Given the description of an element on the screen output the (x, y) to click on. 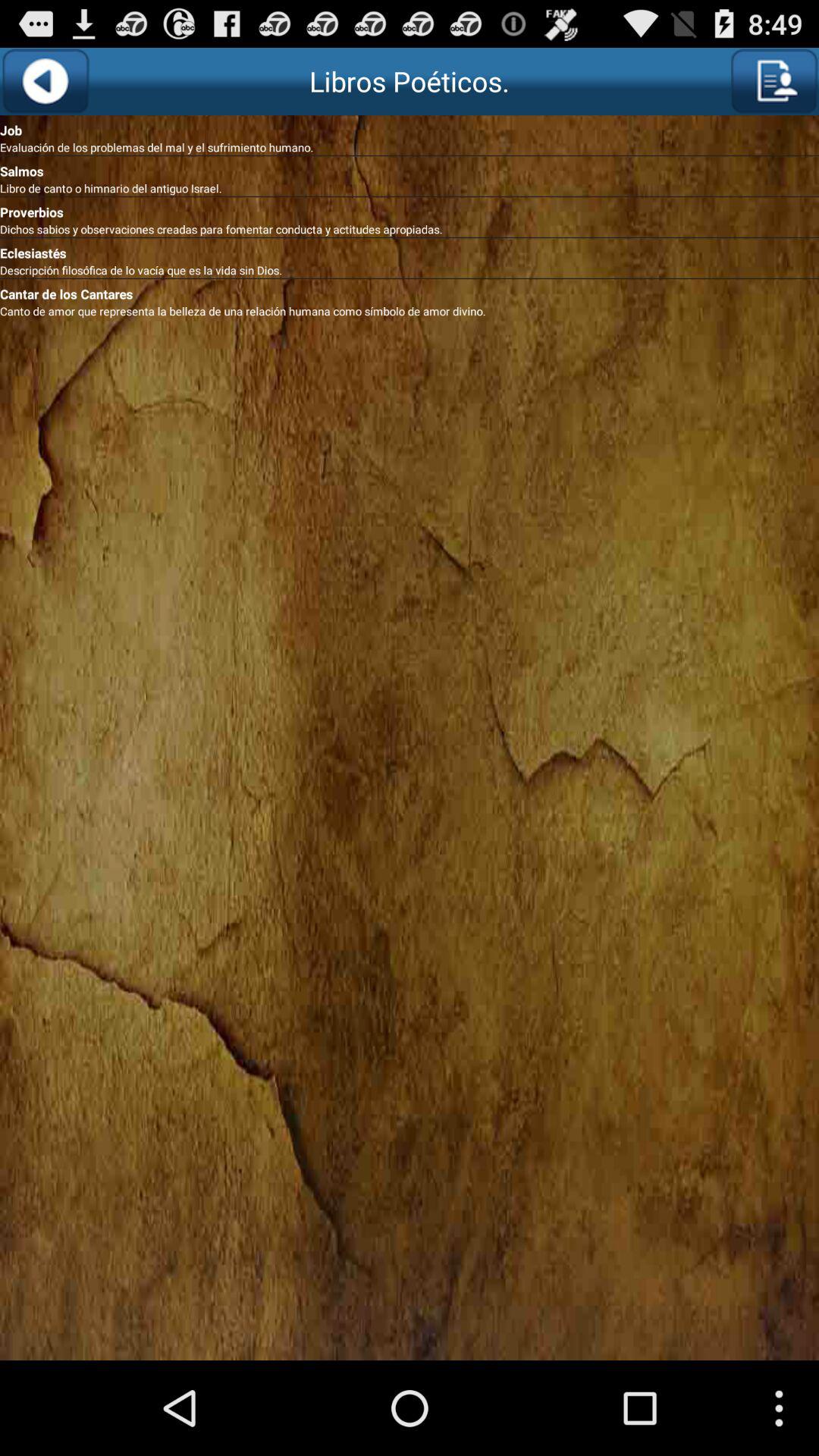
swipe until the proverbios (409, 209)
